Given the description of an element on the screen output the (x, y) to click on. 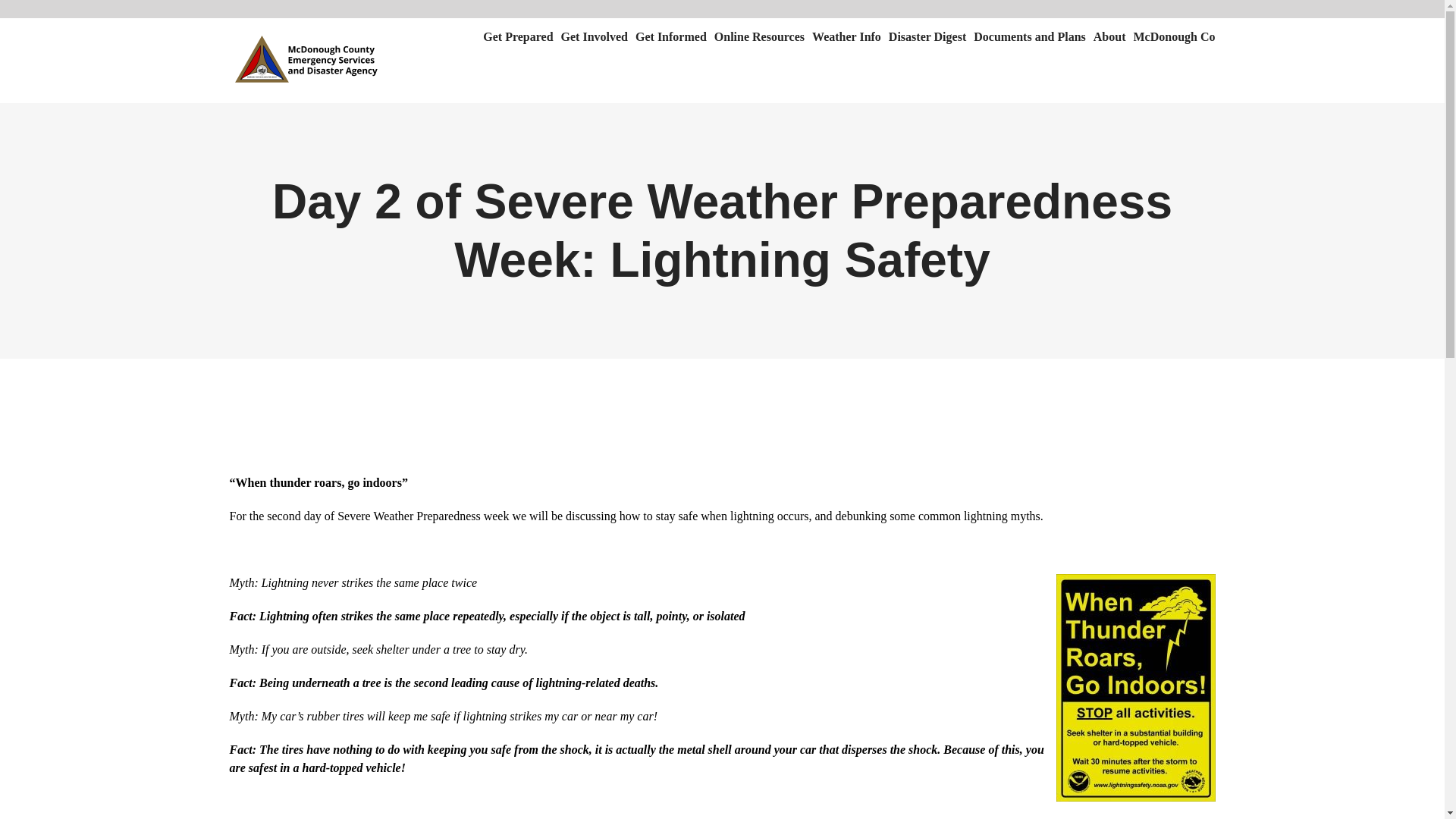
Get Informed (670, 36)
Get Involved (593, 36)
Get Prepared (518, 36)
Disaster Digest (927, 36)
McDonough Co (1173, 36)
Online Resources (759, 36)
Documents and Plans (1030, 36)
Weather Info (846, 36)
